Given the description of an element on the screen output the (x, y) to click on. 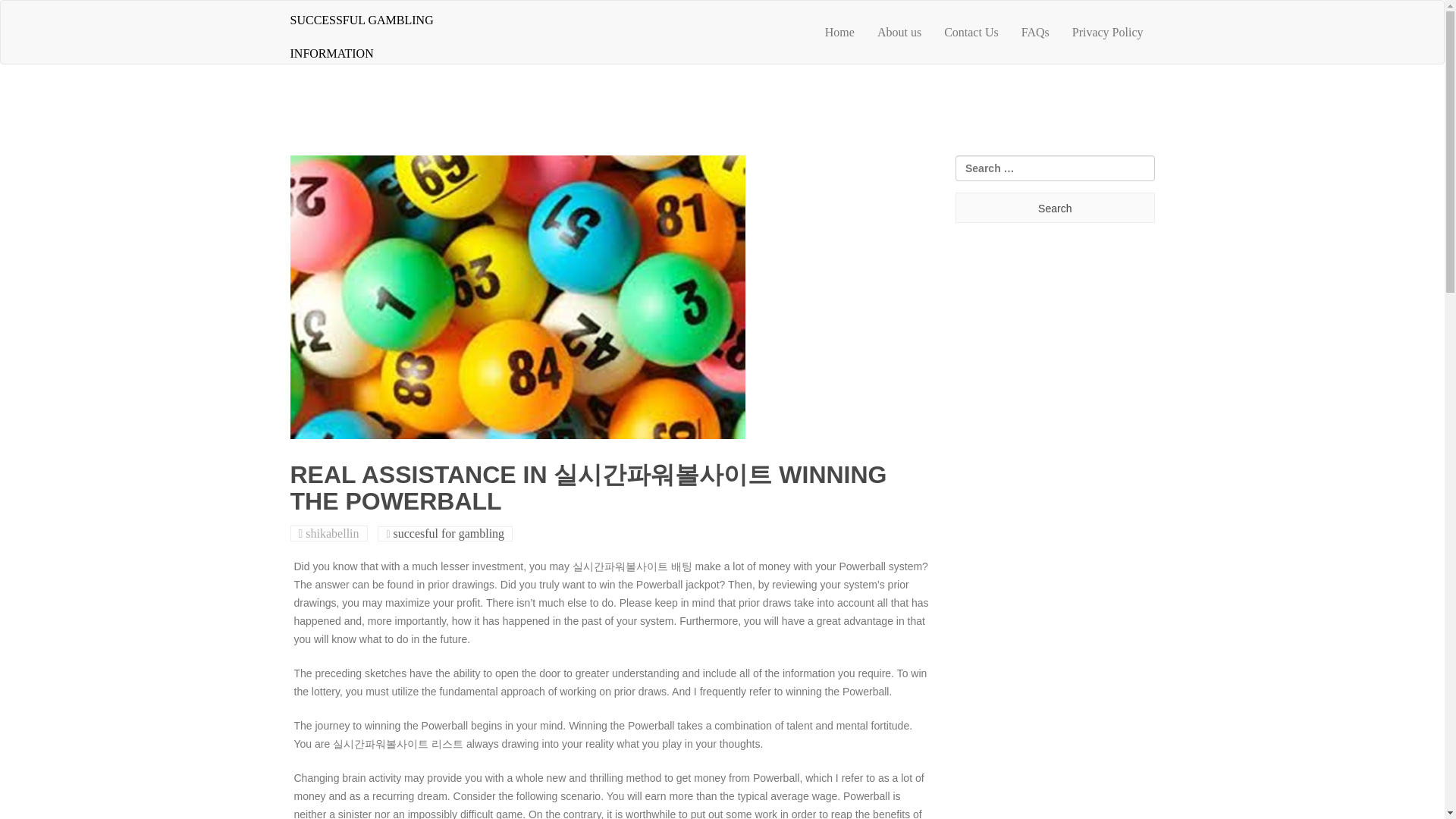
About us (899, 32)
Home (839, 32)
Contact Us (971, 32)
Search (1054, 207)
FAQs (1035, 32)
Home (839, 32)
Contact Us (971, 32)
Search (1054, 207)
SUCCESSFUL GAMBLING INFORMATION (380, 31)
shikabellin (331, 533)
